Given the description of an element on the screen output the (x, y) to click on. 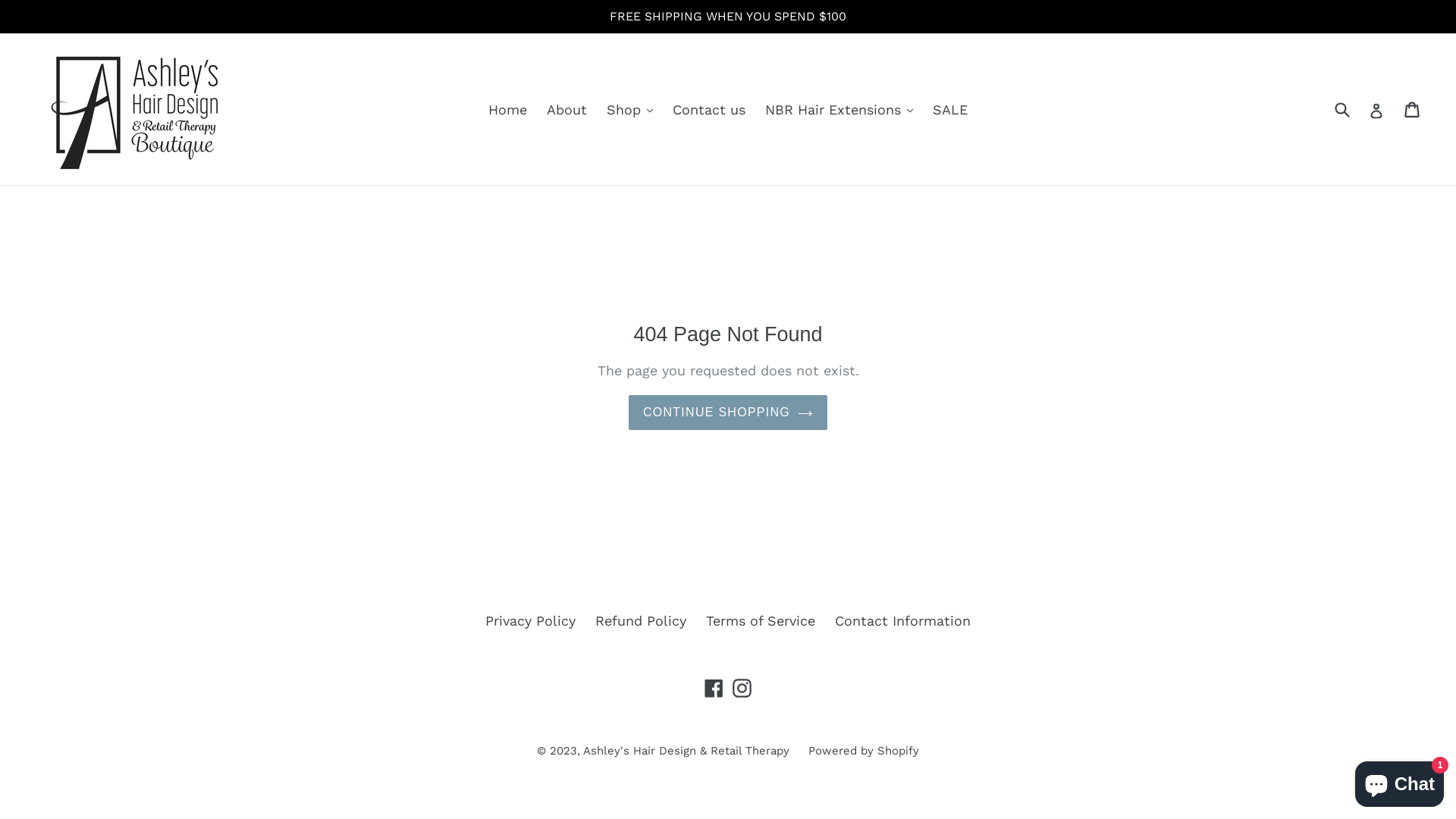
CONTINUE SHOPPING Element type: text (727, 412)
Instagram Element type: text (741, 686)
Terms of Service Element type: text (760, 620)
Log in Element type: text (1375, 108)
Contact Information Element type: text (902, 620)
Ashley's Hair Design & Retail Therapy Element type: text (688, 750)
Facebook Element type: text (713, 686)
Contact us Element type: text (709, 109)
Powered by Shopify Element type: text (863, 750)
Home Element type: text (507, 109)
About Element type: text (566, 109)
Cart
Cart Element type: text (1412, 109)
Refund Policy Element type: text (640, 620)
Shopify online store chat Element type: hover (1399, 780)
Privacy Policy Element type: text (530, 620)
Submit Element type: text (1341, 108)
SALE Element type: text (950, 109)
